Given the description of an element on the screen output the (x, y) to click on. 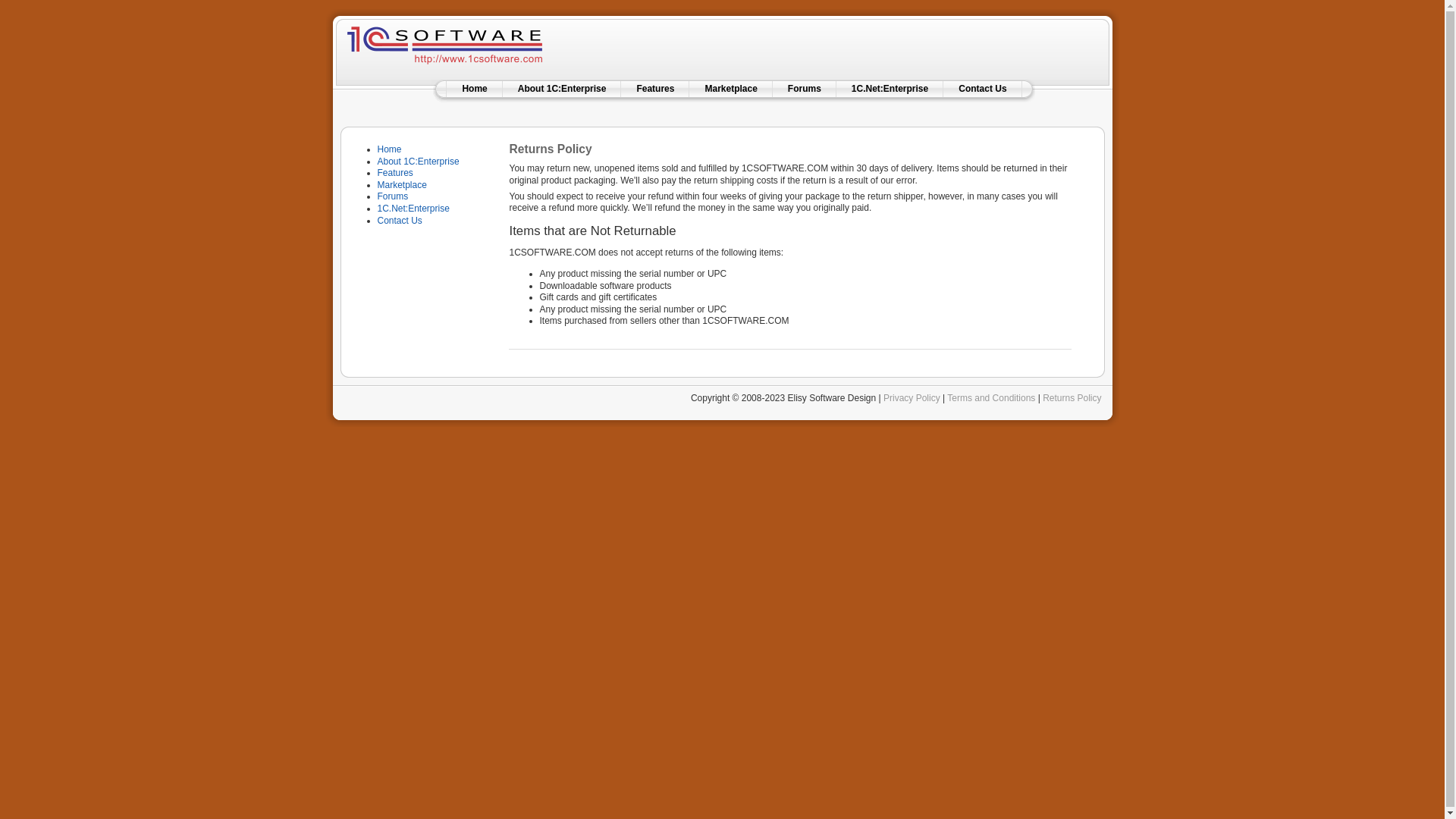
Home Element type: text (474, 88)
Returns Policy Element type: text (1071, 397)
Features Element type: text (395, 172)
Privacy Policy Element type: text (911, 397)
About 1C:Enterprise Element type: text (561, 88)
About 1C:Enterprise Element type: text (418, 161)
Marketplace Element type: text (401, 184)
Marketplace Element type: text (730, 88)
Contact Us Element type: text (982, 88)
Contact Us Element type: text (399, 220)
Terms and Conditions Element type: text (991, 397)
Features Element type: text (655, 88)
Forums Element type: text (804, 88)
Forums Element type: text (392, 196)
1C.Net:Enterprise Element type: text (413, 208)
1C.Net:Enterprise Element type: text (889, 88)
Home Element type: text (389, 149)
